Given the description of an element on the screen output the (x, y) to click on. 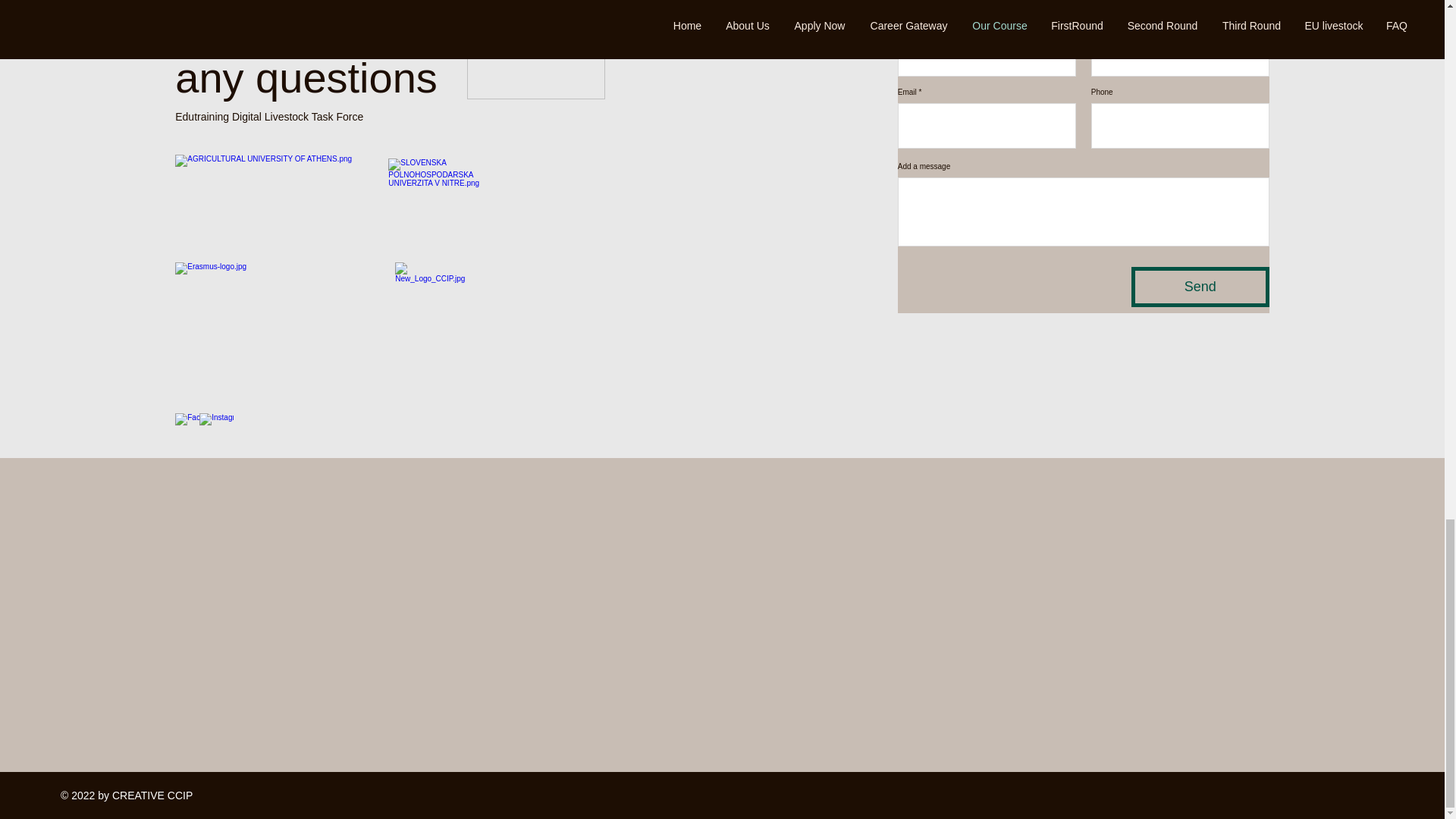
Send (1200, 286)
Envelope (536, 49)
